Given the description of an element on the screen output the (x, y) to click on. 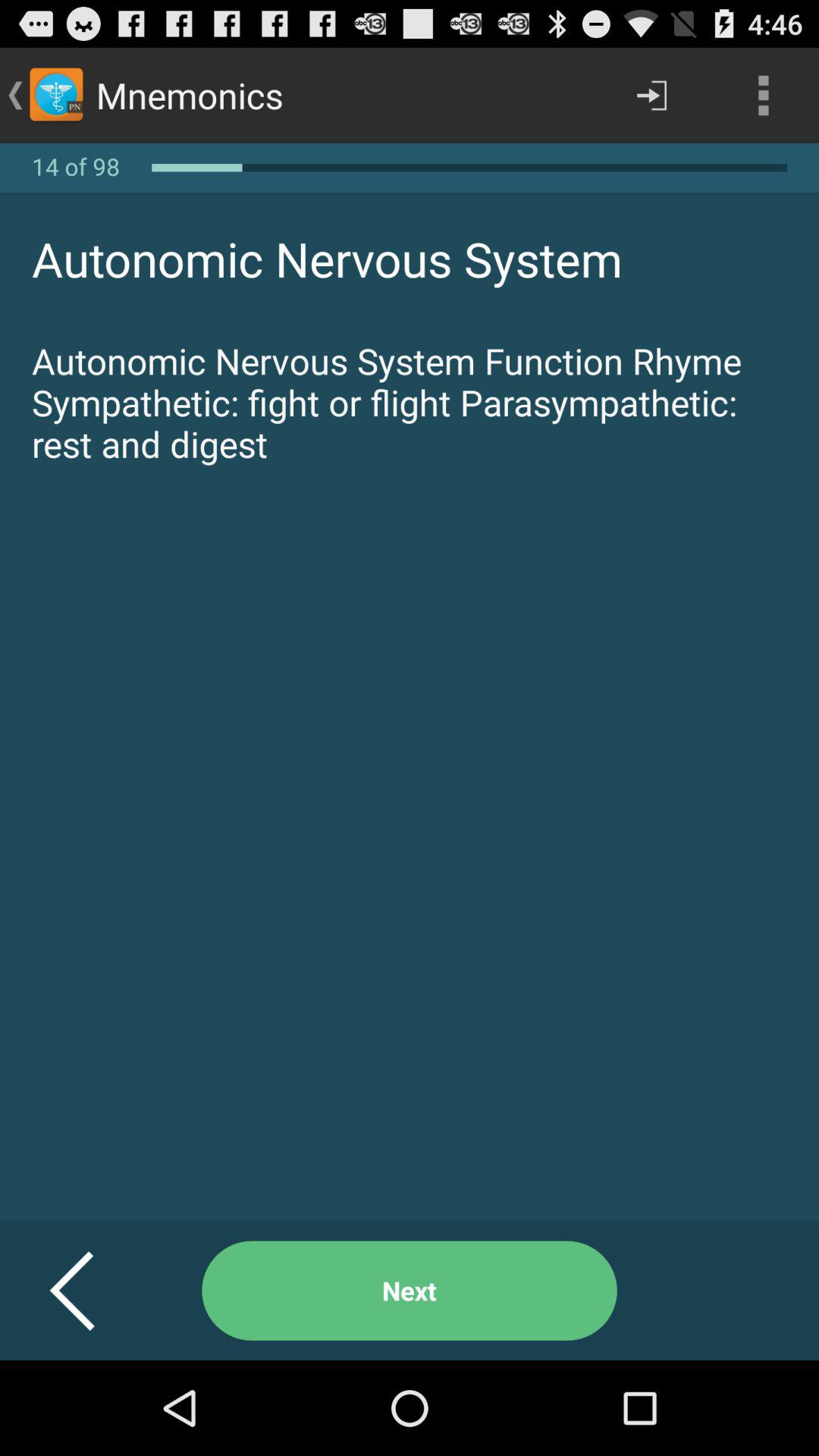
turn off item below the autonomic nervous system (409, 1290)
